Given the description of an element on the screen output the (x, y) to click on. 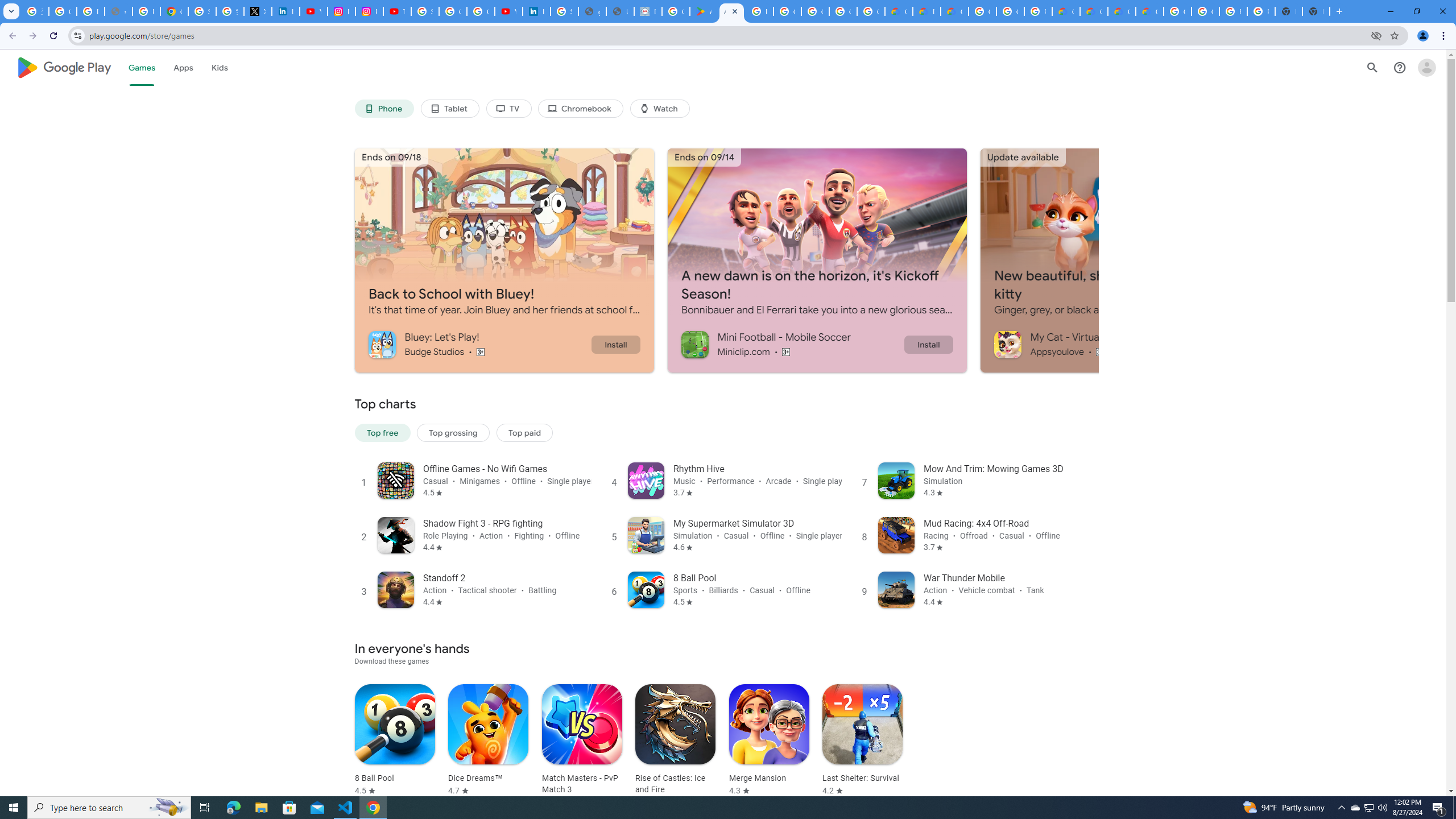
Privacy Help Center - Policies Help (146, 11)
8 Ball Pool Rated 4.5 stars out of five stars (394, 739)
Android Apps on Google Play (703, 11)
New Tab (1316, 11)
Top free (381, 432)
Bluey: Let's Play! Budge Studios Content rating Rated for 3+ (479, 344)
Kids (219, 67)
